Given the description of an element on the screen output the (x, y) to click on. 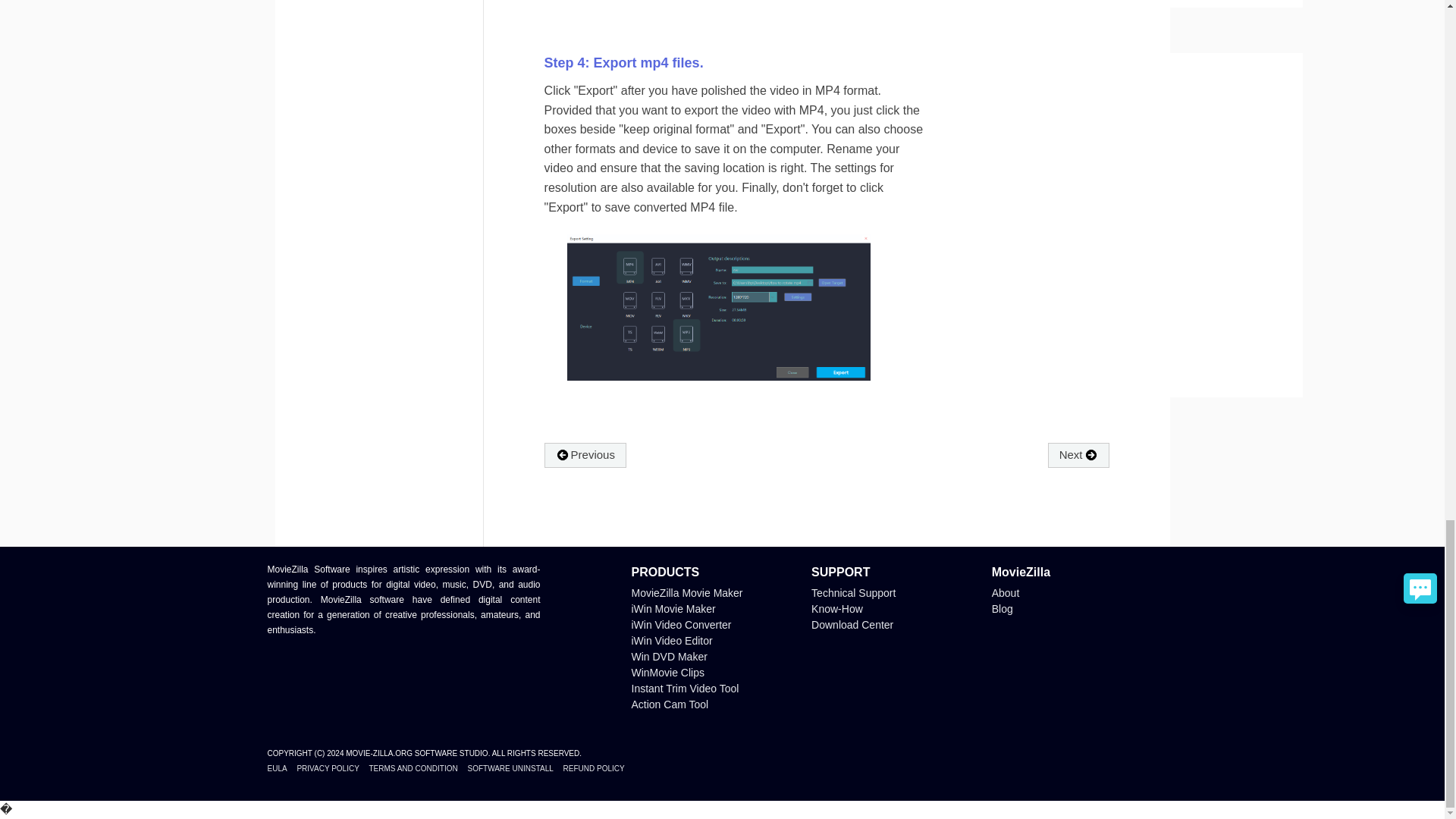
iWin DVD Maker (668, 656)
Technical Support (852, 592)
Action Cam Tool (668, 704)
iWin Video Converter (680, 624)
WinMovie Clips (666, 672)
About (1005, 592)
iWin Video Editor (670, 640)
Blog (1002, 608)
Download (851, 624)
MovieZilla Movie Maker (686, 592)
iWin Movie Maker (672, 608)
Know-How (836, 608)
Instant Trim  Video Tool (684, 688)
